Given the description of an element on the screen output the (x, y) to click on. 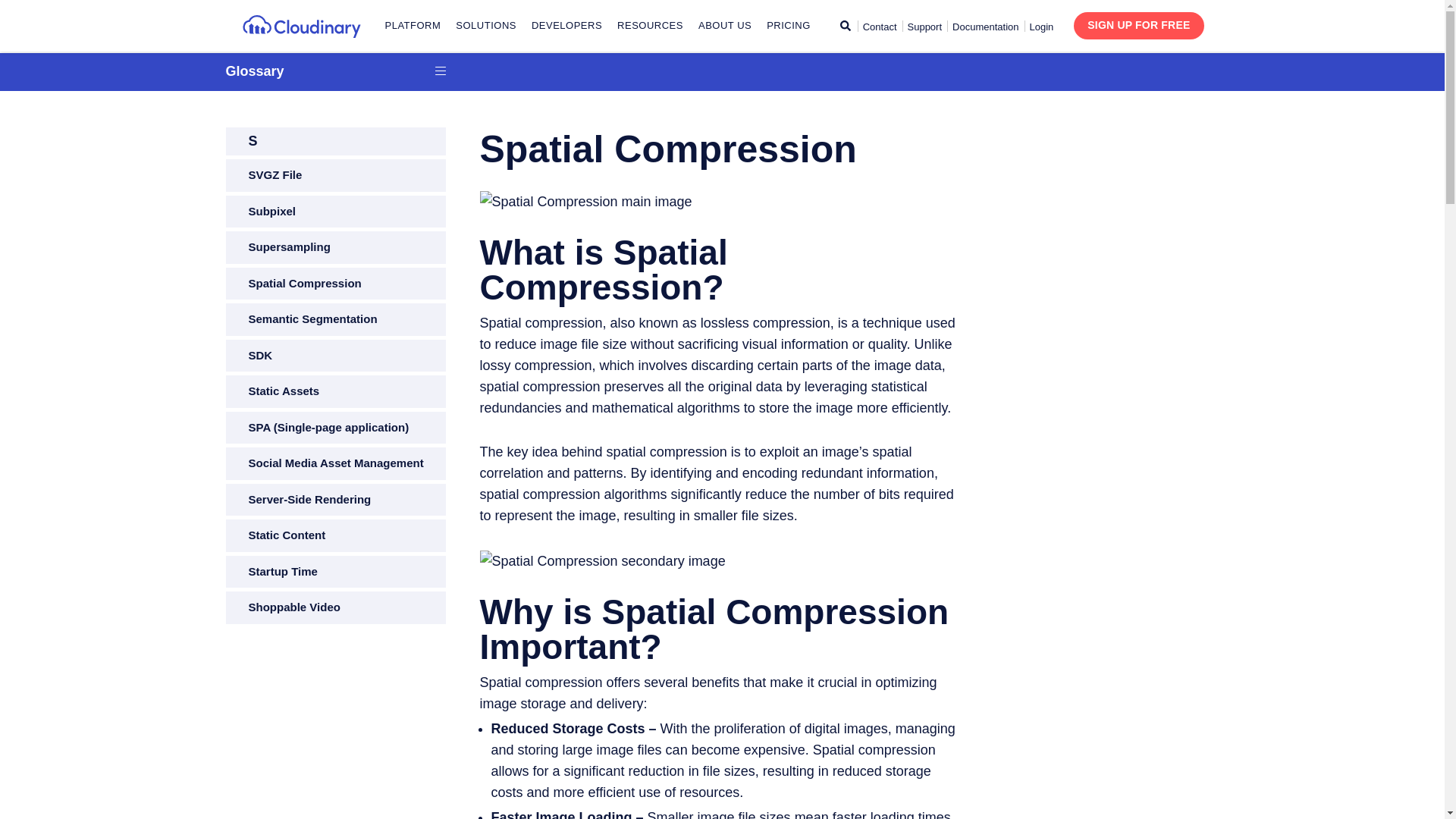
DEVELOPERS (566, 25)
RESOURCES (649, 25)
PLATFORM (413, 25)
SOLUTIONS (485, 25)
